Given the description of an element on the screen output the (x, y) to click on. 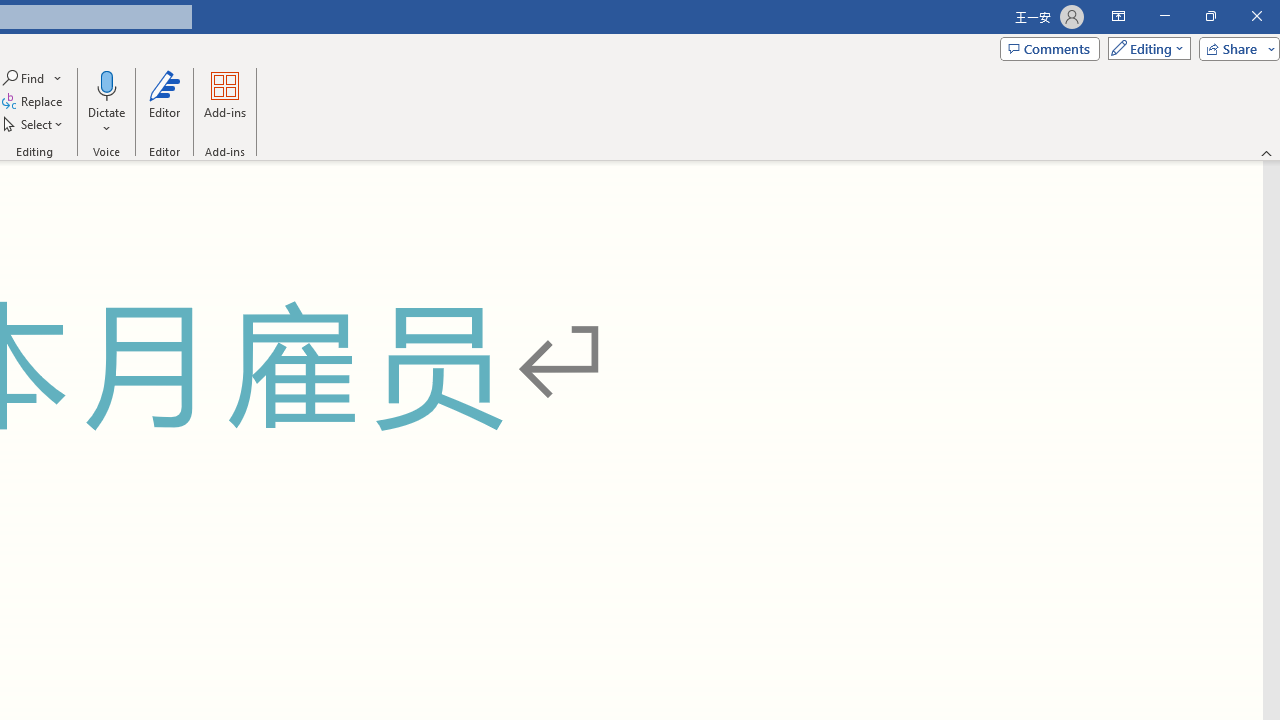
Editing (1144, 47)
